Given the description of an element on the screen output the (x, y) to click on. 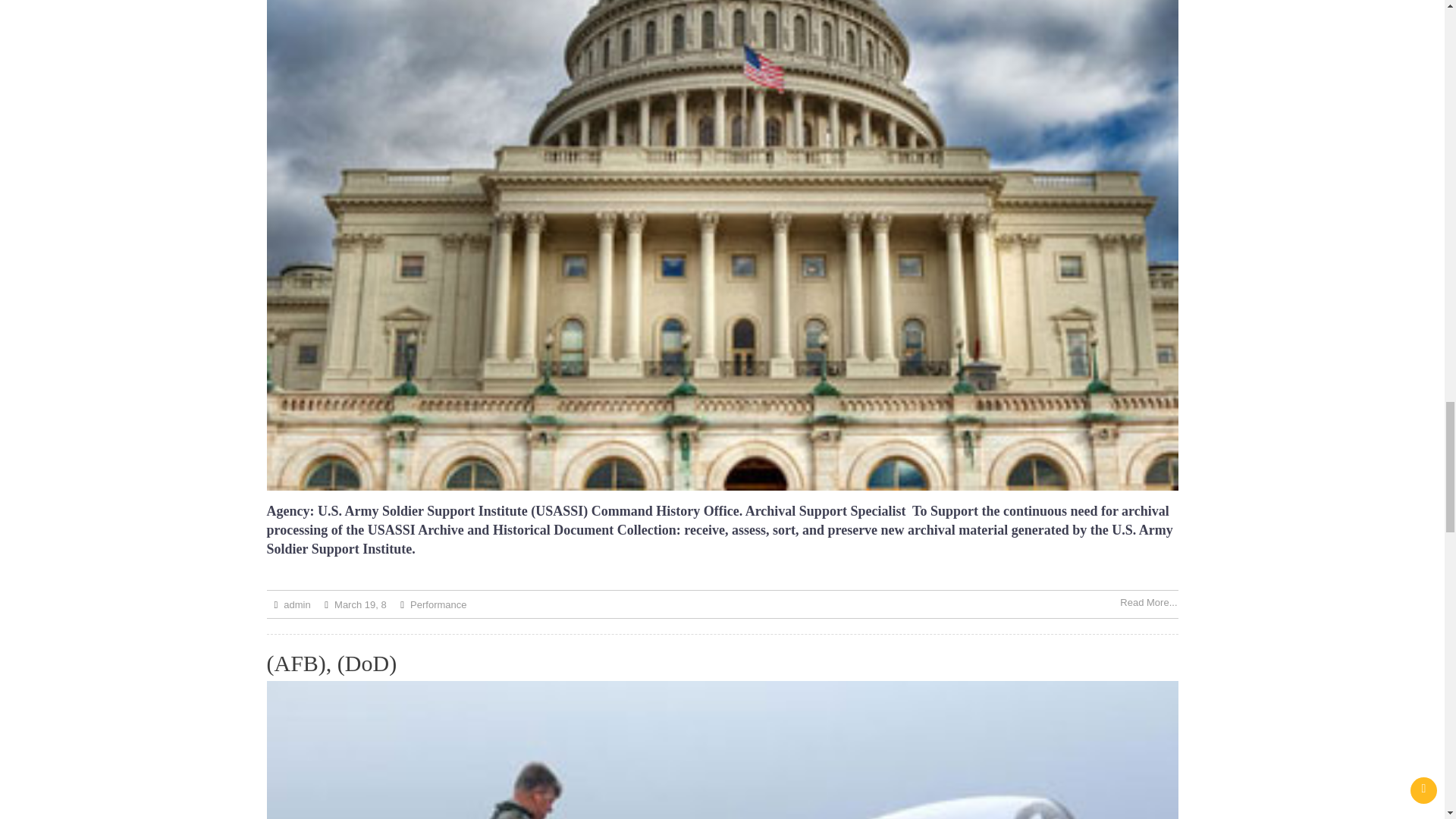
Performance (437, 604)
Read More... (1147, 602)
March 19, 8 (360, 604)
admin (296, 604)
